Given the description of an element on the screen output the (x, y) to click on. 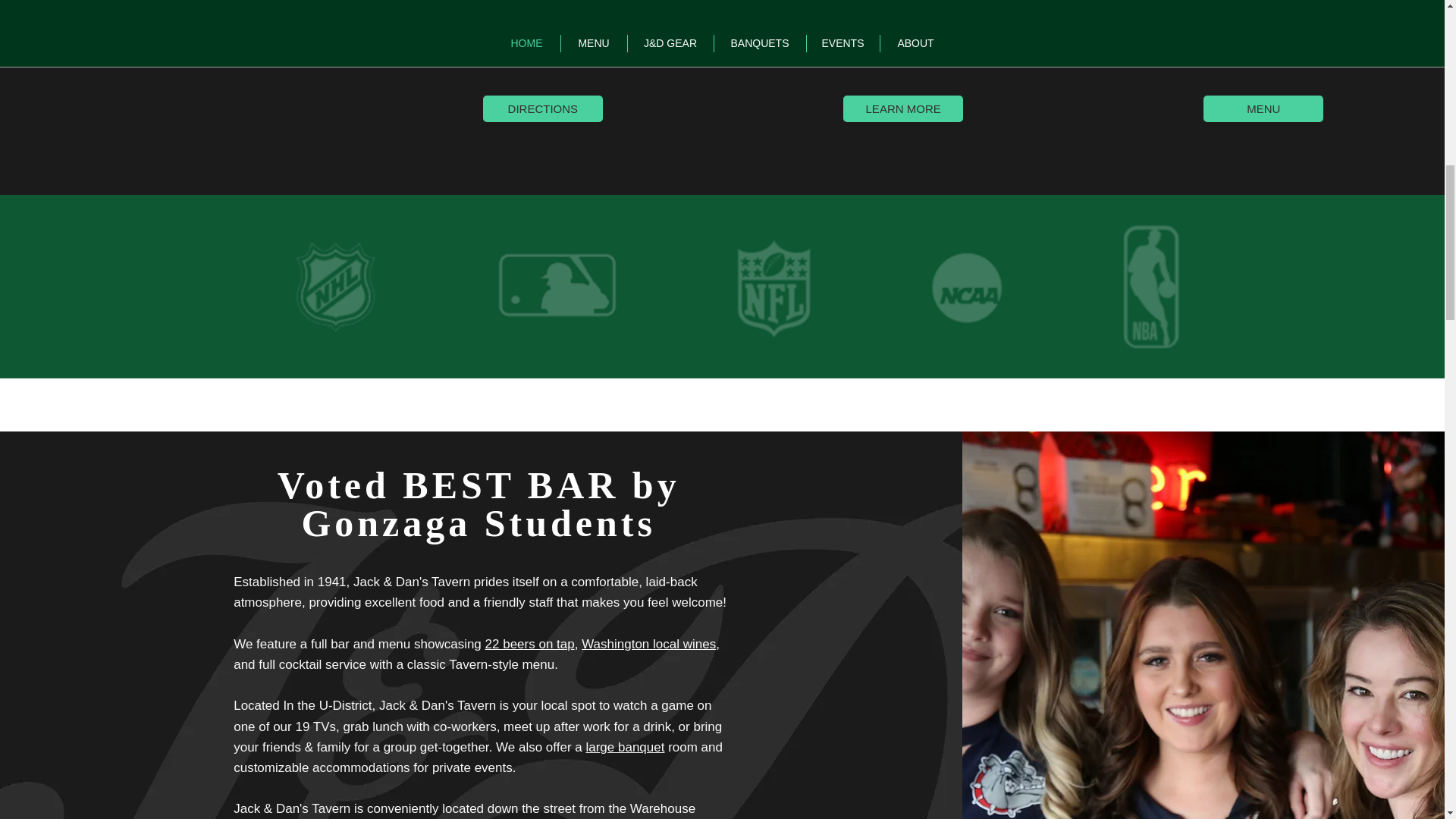
LEARN MORE (902, 108)
MENU (1263, 108)
22 beers on tap (529, 644)
DIRECTIONS (542, 108)
Washington local wines (648, 644)
large banquet (624, 747)
